Given the description of an element on the screen output the (x, y) to click on. 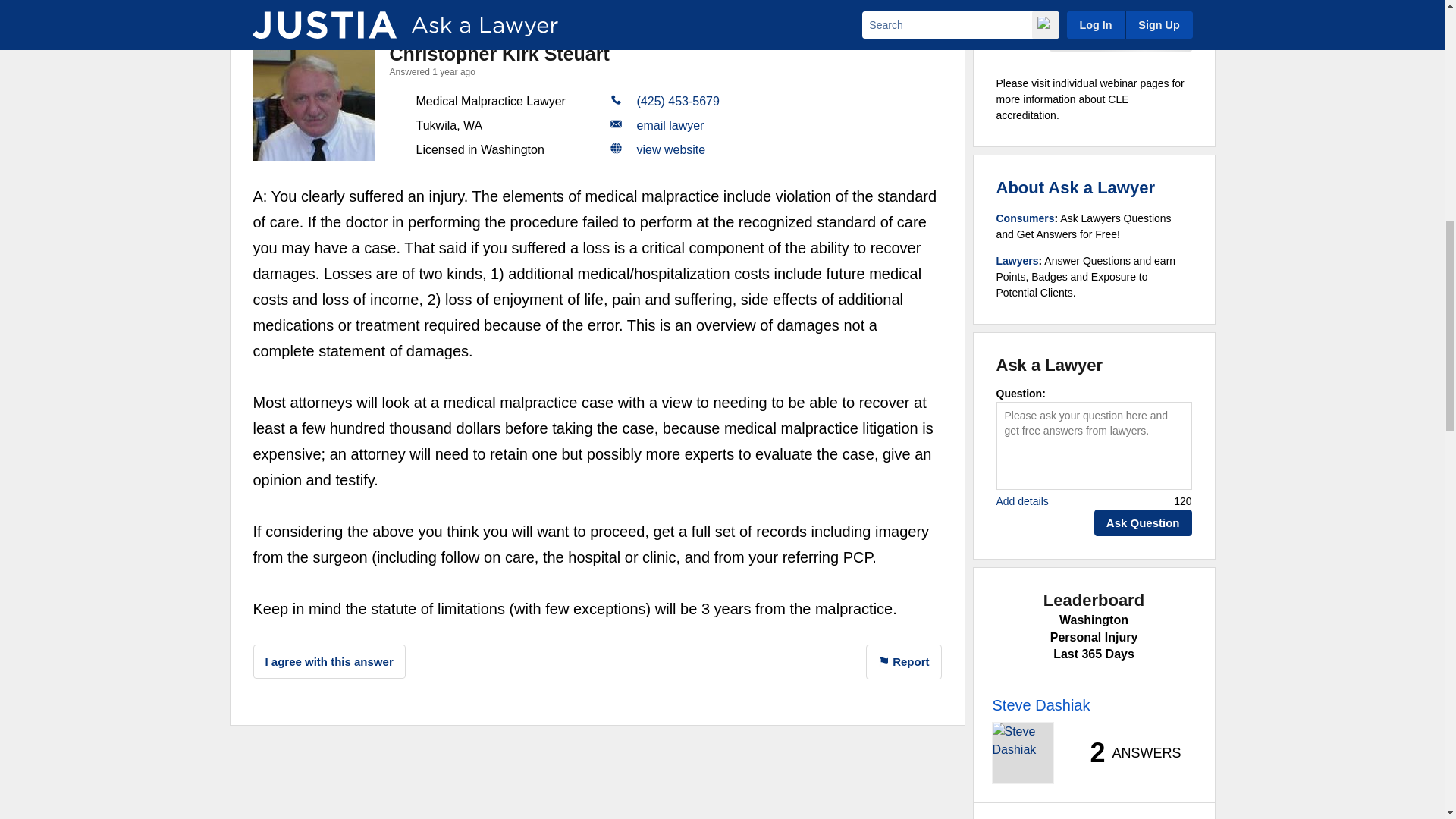
Ask a Lawyer - Leaderboard - Lawyer Stats (1127, 752)
Ask a Lawyer - FAQs - Consumers (1024, 218)
Ask a Lawyer - FAQs - Lawyers (1017, 260)
Christopher Kirk Steuart (313, 99)
Ask a Lawyer - Leaderboard - Lawyer Name (1040, 704)
Ask a Lawyer - Leaderboard - Lawyer Photo (1021, 752)
